Given the description of an element on the screen output the (x, y) to click on. 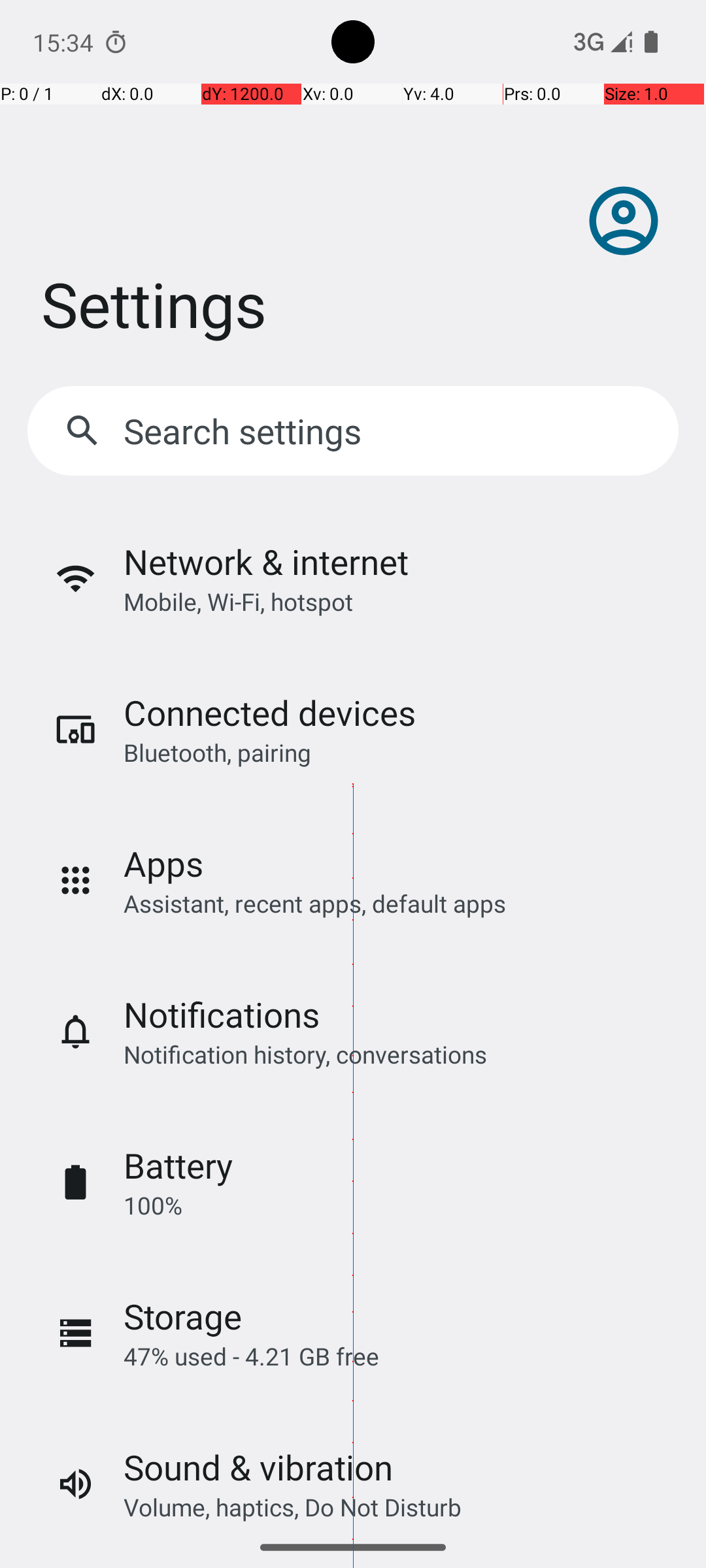
47% used - 4.21 GB free Element type: android.widget.TextView (251, 1355)
